Given the description of an element on the screen output the (x, y) to click on. 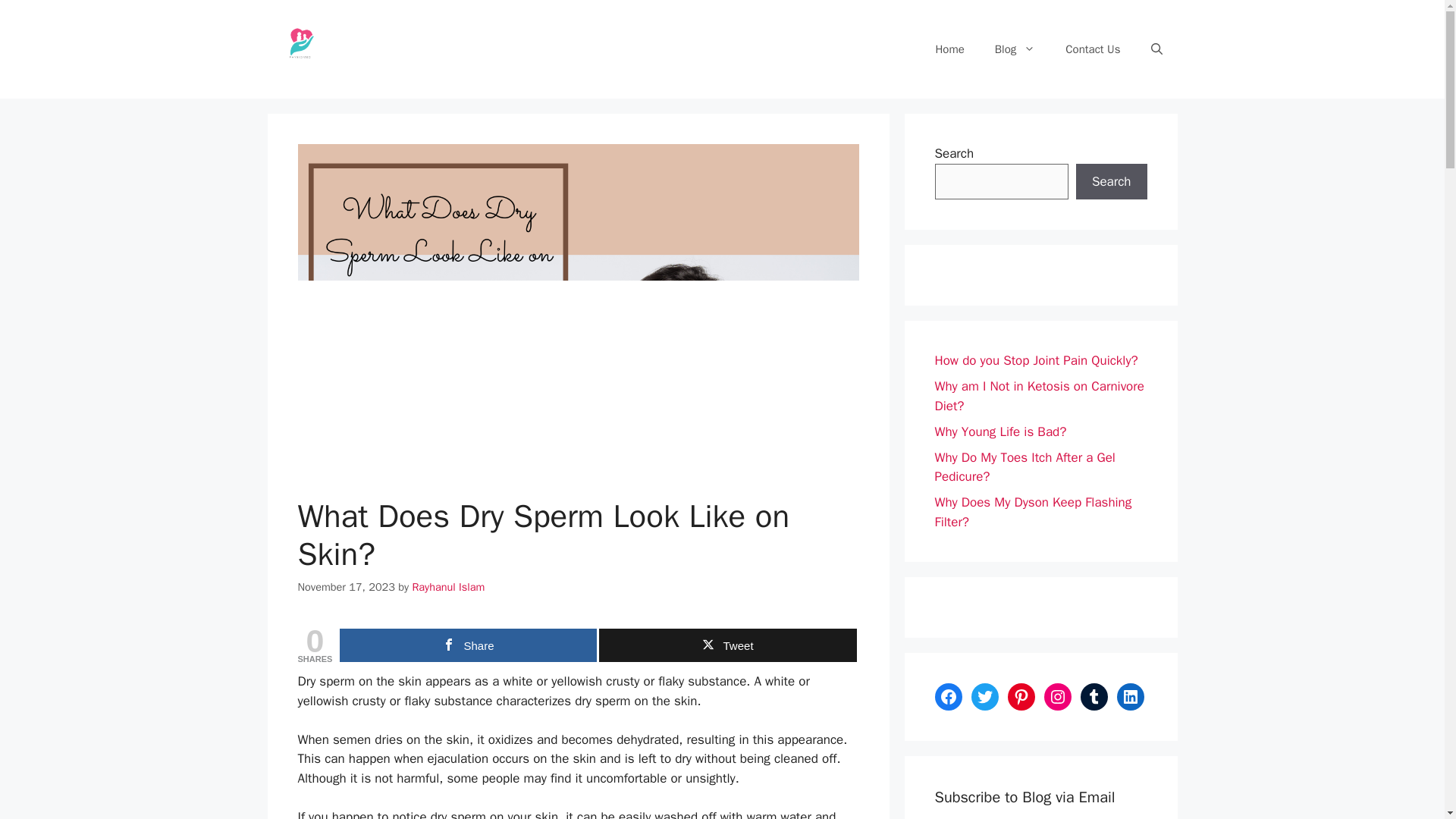
How do you Stop Joint Pain Quickly? (1035, 360)
Rayhanul Islam (448, 586)
Share (467, 644)
Search (1111, 181)
View all posts by Rayhanul Islam (448, 586)
Tweet (727, 644)
Blog (1014, 49)
Home (949, 49)
Contact Us (1092, 49)
